Given the description of an element on the screen output the (x, y) to click on. 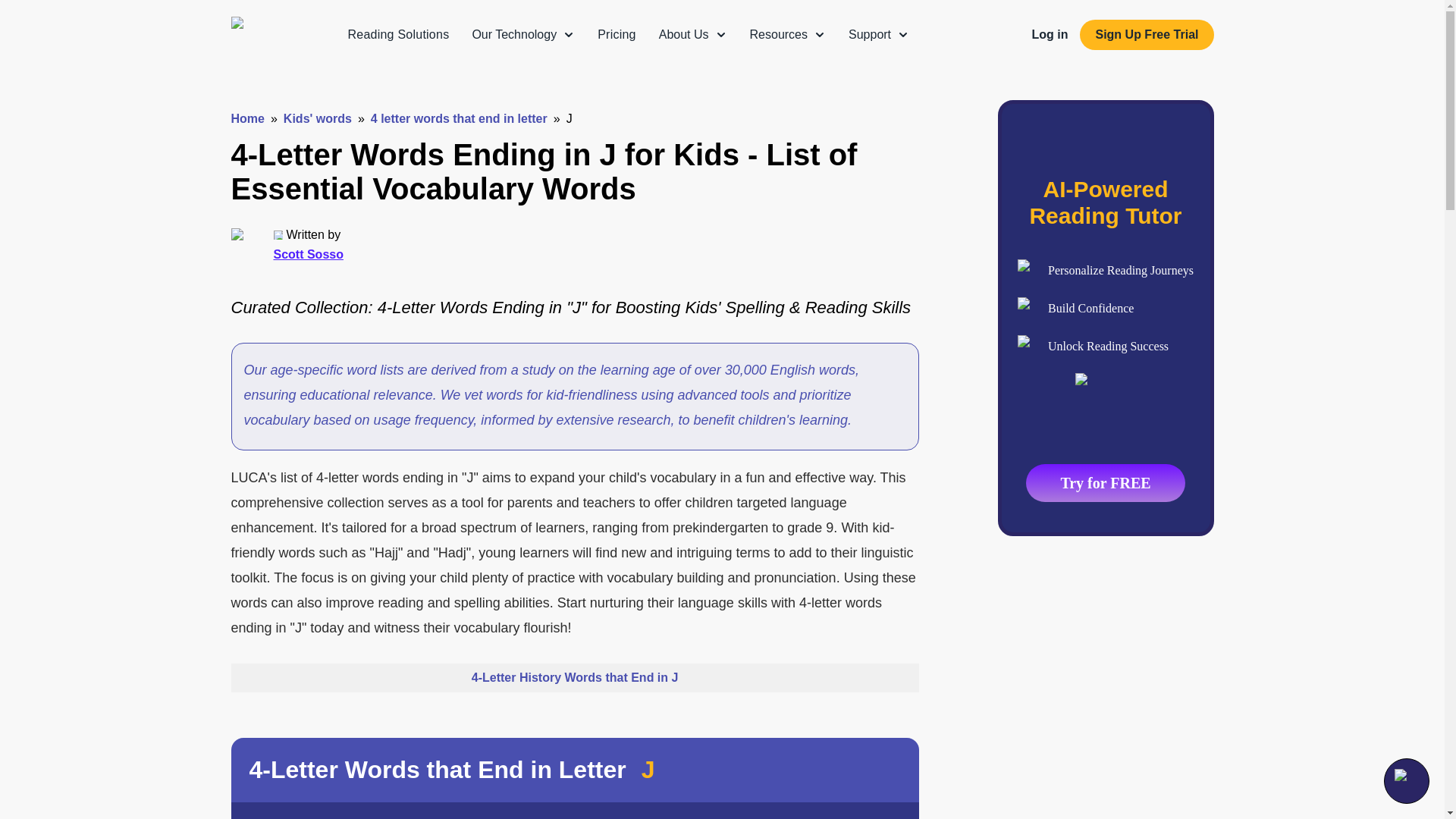
Home (246, 118)
Reading Solutions (397, 33)
Scott Sosso (307, 254)
Log in (1048, 34)
Kids' words (317, 118)
Pricing (616, 33)
Sign Up Free Trial (1146, 34)
4-Letter History Words that End in J (574, 677)
4 letter words that end in letter (459, 118)
